Given the description of an element on the screen output the (x, y) to click on. 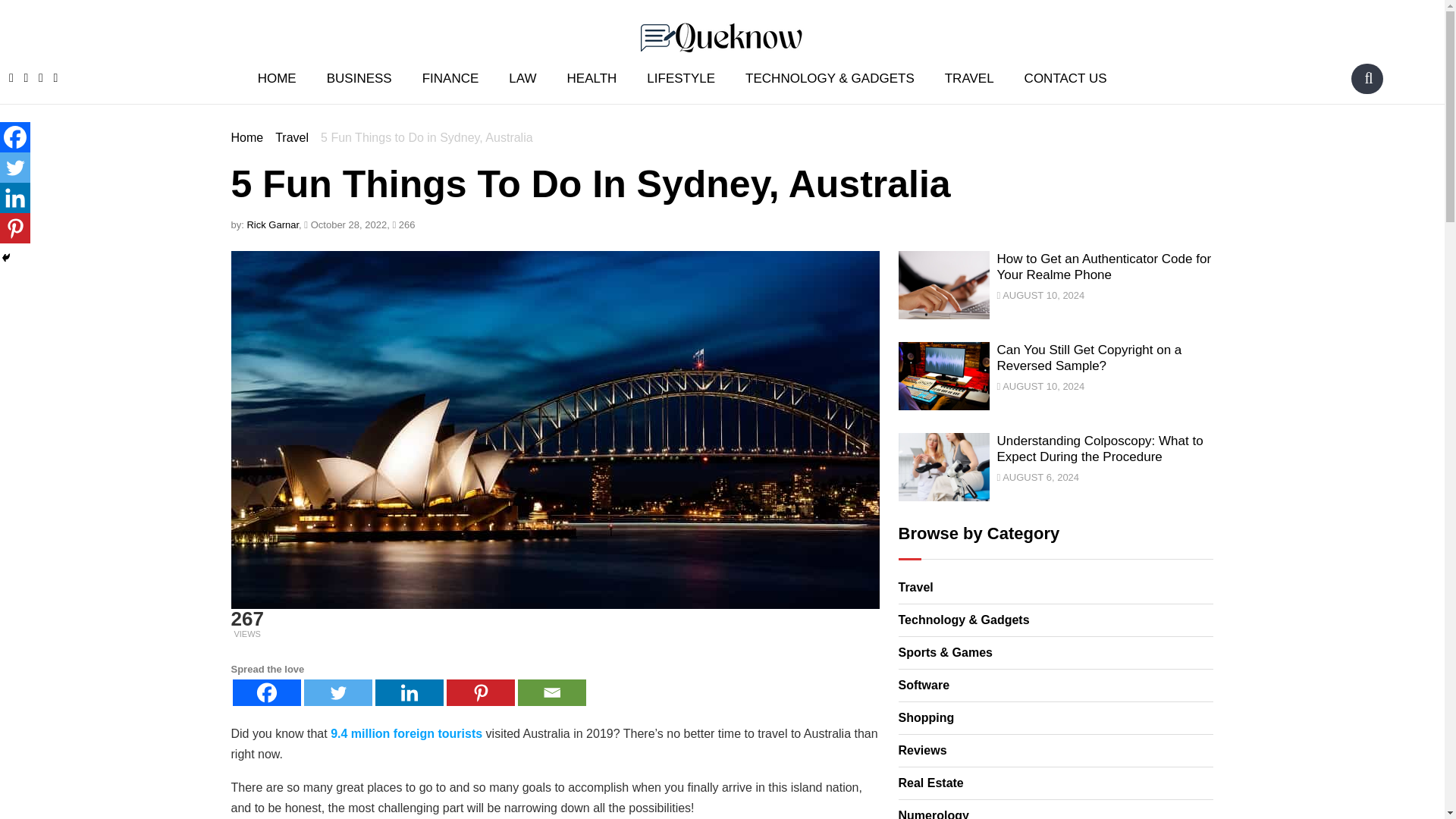
FINANCE (451, 77)
Rick Garnar (272, 224)
Travel (291, 137)
Linkedin (408, 692)
Home (246, 137)
Twitter (15, 167)
Facebook (15, 137)
TRAVEL (969, 77)
Linkedin (15, 197)
HEALTH (591, 77)
